Given the description of an element on the screen output the (x, y) to click on. 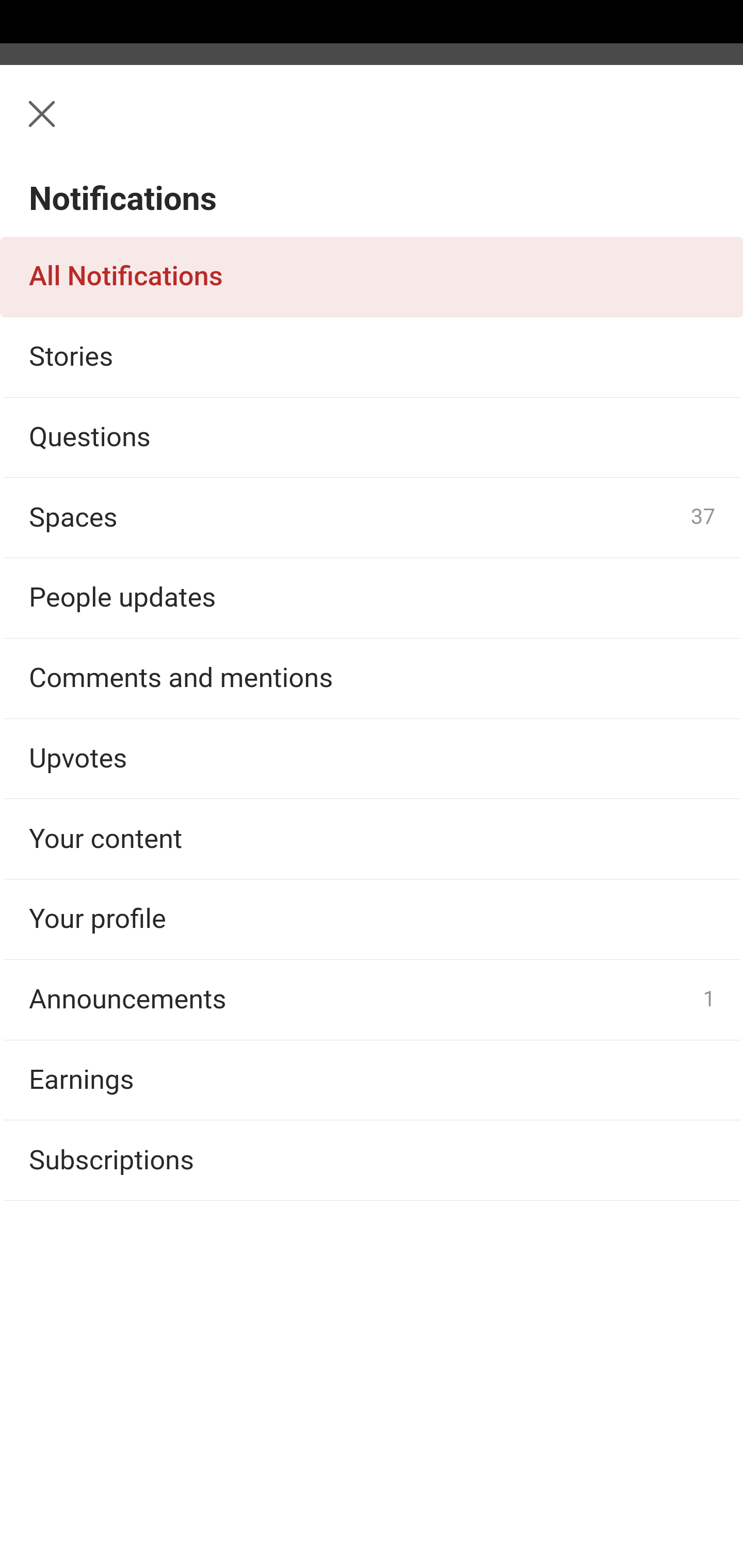
Me Notifications Search (371, 125)
Me (64, 125)
Mark All As Read (135, 213)
